Given the description of an element on the screen output the (x, y) to click on. 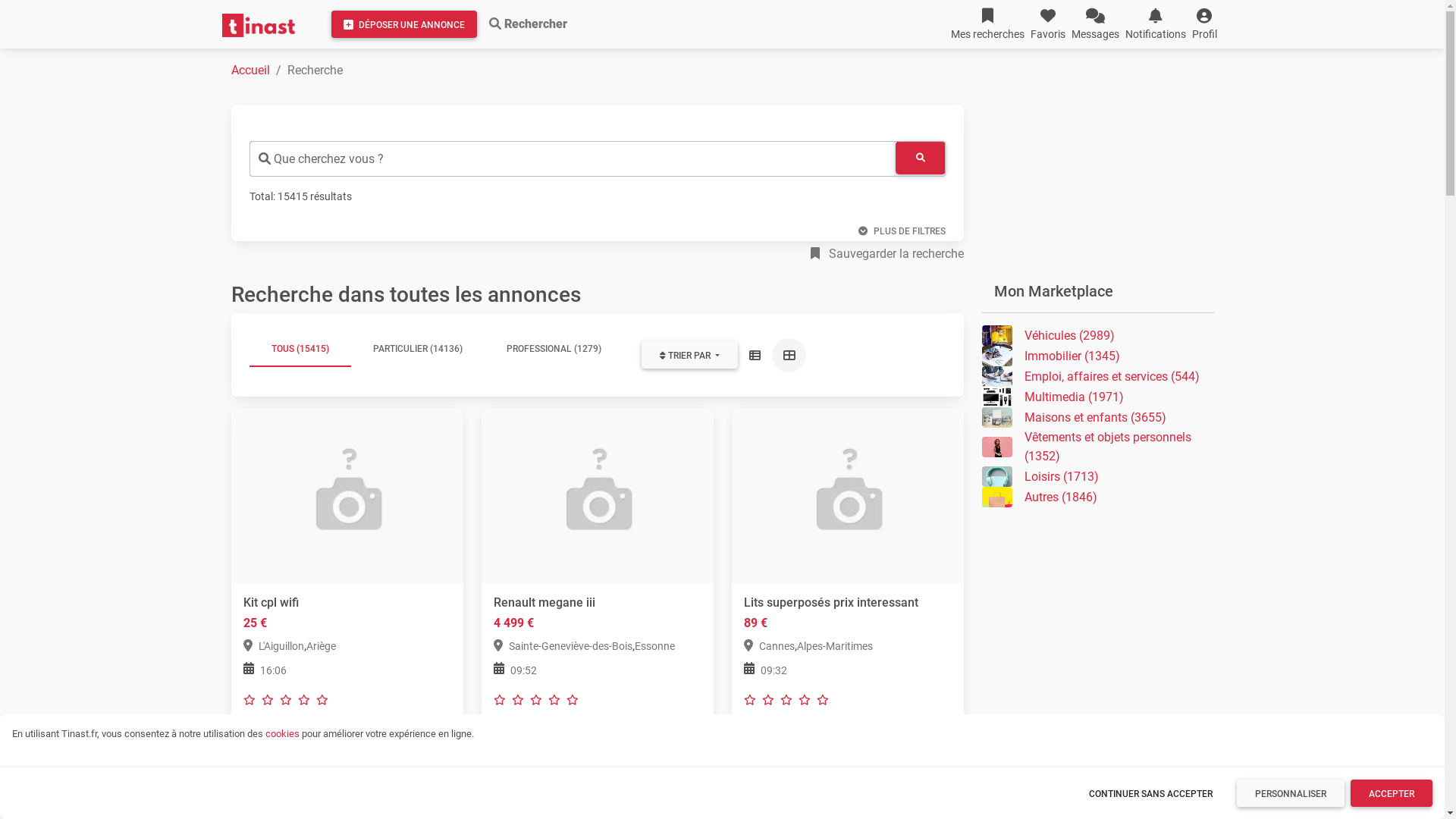
PARTICULIER (14136) Element type: text (416, 349)
Mes recherches Element type: text (987, 24)
Immobilier (1345) Element type: text (1097, 355)
PROFESSIONAL (1279) Element type: text (552, 349)
kit CPL WIFI Element type: hover (346, 495)
Accueil Element type: text (249, 69)
Messages Element type: text (1094, 24)
Cannes Element type: text (768, 645)
Loisirs (1713) Element type: text (1097, 476)
ACCEPTER Element type: text (1391, 792)
PLUS DE FILTRES Element type: text (901, 230)
CONTINUER SANS ACCEPTER Element type: text (1150, 792)
Voitures Element type: text (518, 760)
cookies Element type: text (282, 733)
Renault megane iii Element type: text (543, 602)
Renault megane III Element type: hover (596, 495)
Sauvegarder la recherche Element type: text (886, 253)
Autres (1846) Element type: text (1097, 496)
Profil Element type: text (1204, 24)
TRIER PAR Element type: text (689, 354)
Notifications Element type: text (1155, 24)
Maisons et enfants (3655) Element type: text (1097, 417)
Informatique et accessoires Element type: text (313, 760)
TOUS (15415) Element type: text (299, 349)
Emploi, affaires et services (544) Element type: text (1097, 376)
Consulter l'annonce Renault megane III Element type: hover (596, 494)
Multimedia (1971) Element type: text (1097, 396)
Alpes-Maritimes Element type: text (834, 645)
Consulter l'annonce kit CPL WIFI Element type: hover (346, 494)
Favoris Element type: text (1046, 24)
Logo de Tinast Element type: hover (257, 25)
Kit cpl wifi Element type: text (270, 602)
L'Aiguillon Element type: text (272, 645)
Rechercher Element type: text (527, 24)
Essonne Element type: text (653, 645)
PERSONNALISER Element type: text (1290, 792)
